Given the description of an element on the screen output the (x, y) to click on. 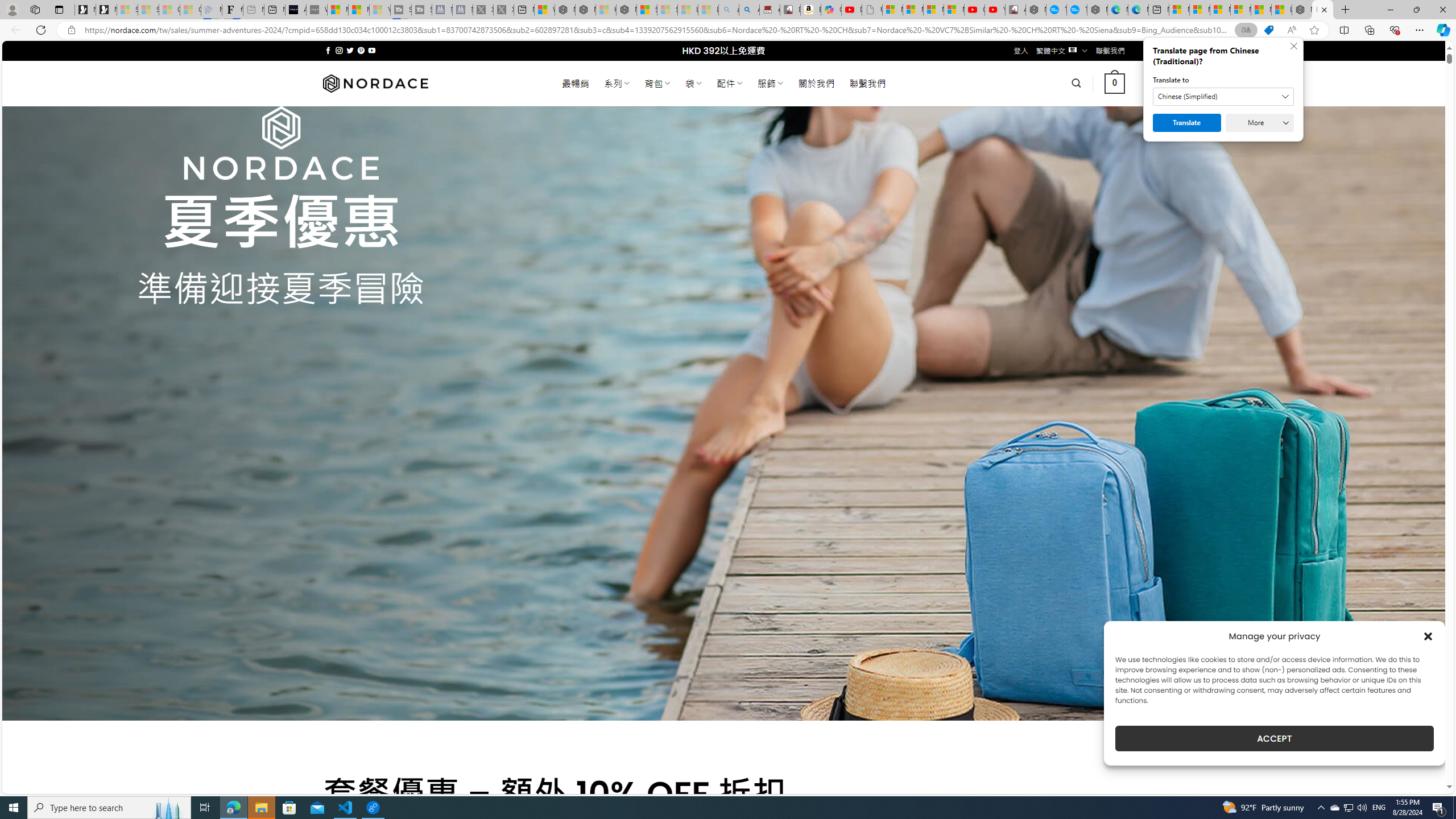
The most popular Google 'how to' searches (1076, 9)
Nordace - My Account (1035, 9)
Amazon Echo Dot PNG - Search Images (748, 9)
